Given the description of an element on the screen output the (x, y) to click on. 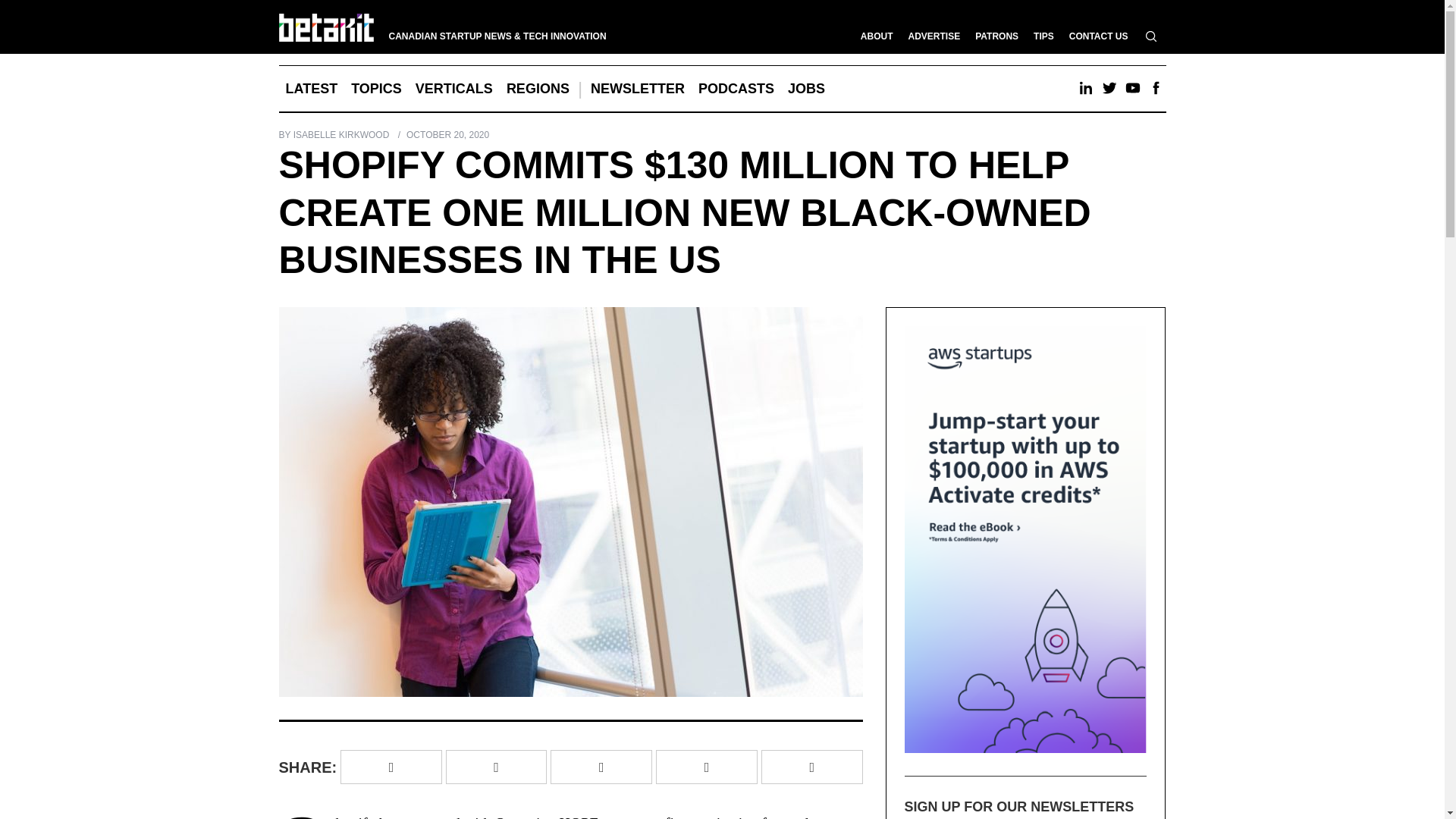
VERTICALS (454, 88)
LATEST (312, 88)
JOBS (805, 88)
TIPS (1043, 36)
PODCASTS (735, 88)
NEWSLETTER (637, 88)
Posts by Isabelle Kirkwood (342, 134)
ABOUT (877, 36)
CONTACT US (1098, 36)
TOPICS (376, 88)
